Given the description of an element on the screen output the (x, y) to click on. 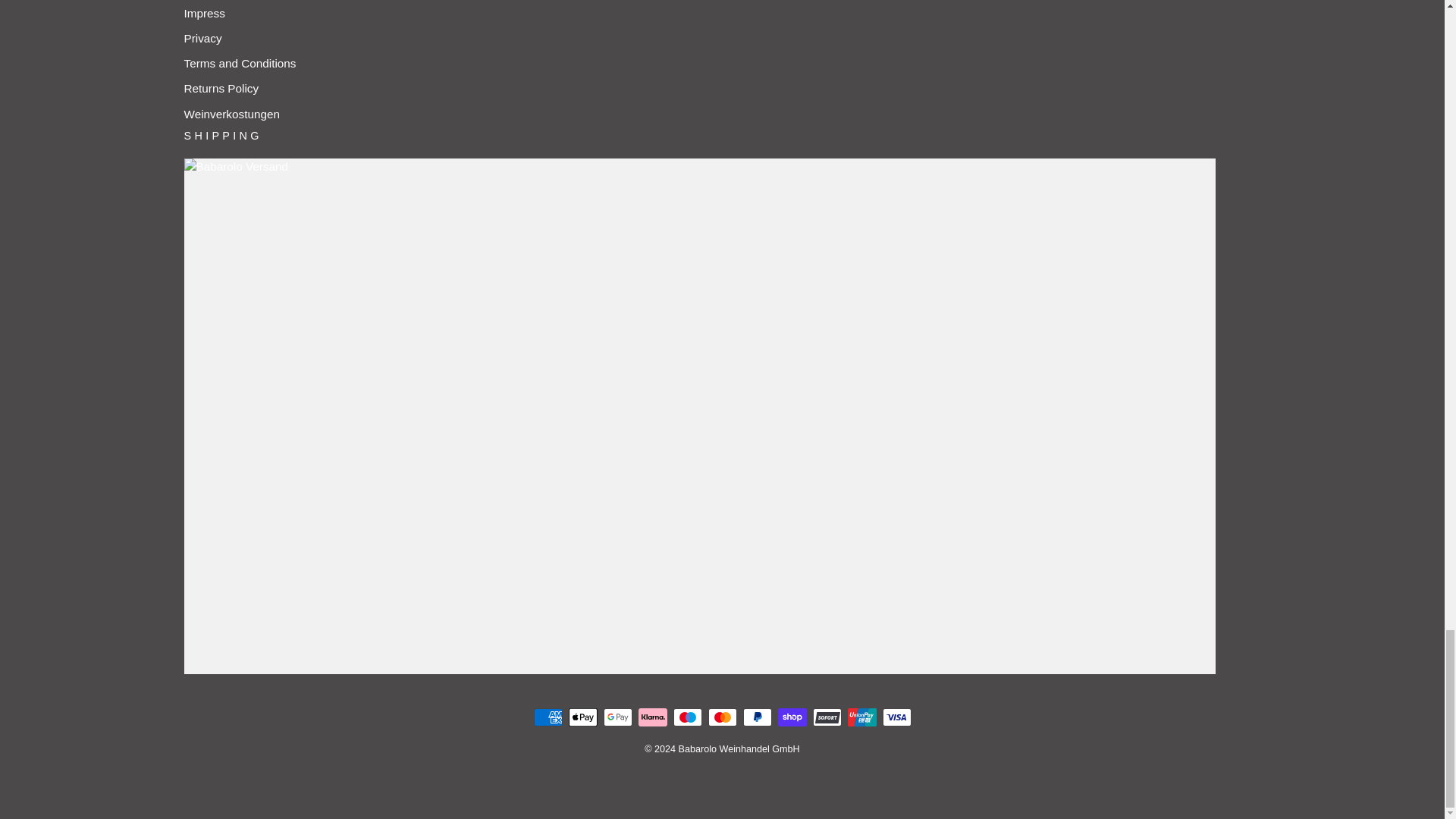
American Express (548, 717)
Klarna (652, 717)
Apple Pay (582, 717)
Google Pay (617, 717)
